Given the description of an element on the screen output the (x, y) to click on. 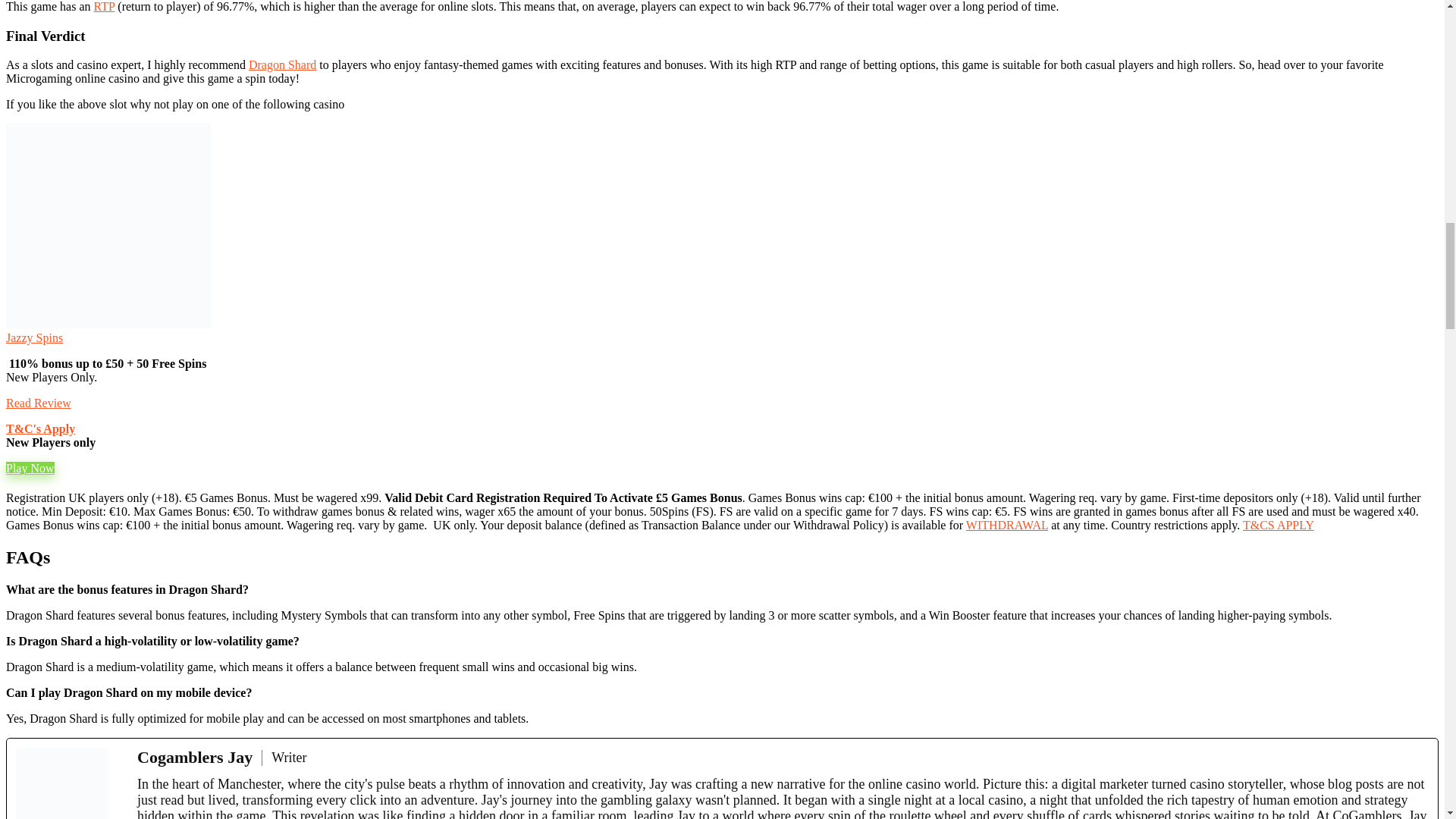
Dragon Shard (281, 64)
Play Now (30, 468)
Jazzy Spins (108, 323)
Jazzy Spins (33, 337)
Jazzy Spins (33, 337)
RTP (104, 6)
Read Review (38, 402)
Jazzy spins on cogamblers - cogamblers (108, 225)
